Given the description of an element on the screen output the (x, y) to click on. 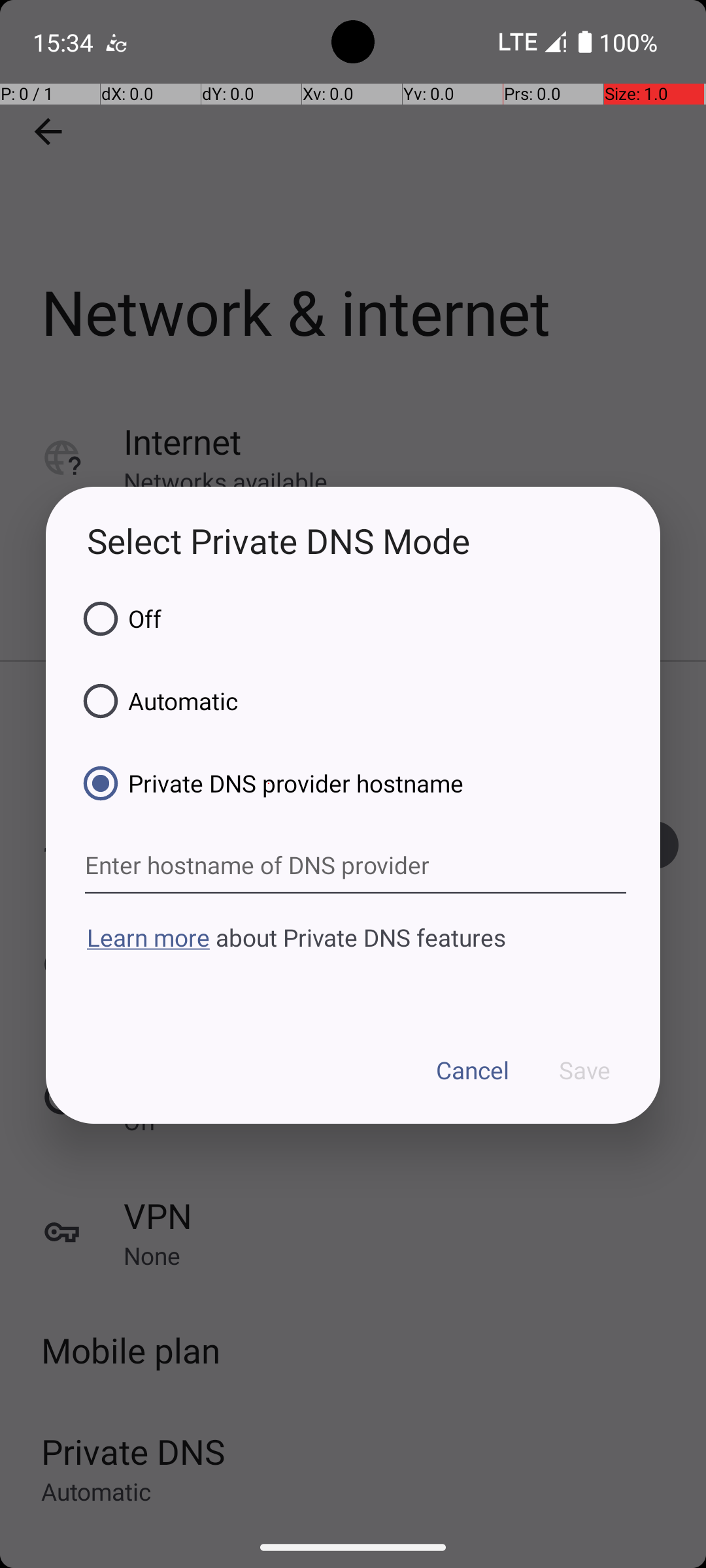
Select Private DNS Mode Element type: android.widget.TextView (352, 540)
Learn more about Private DNS features Element type: android.widget.TextView (352, 961)
Automatic Element type: android.widget.RadioButton (155, 700)
Private DNS provider hostname Element type: android.widget.RadioButton (268, 783)
Enter hostname of DNS provider Element type: android.widget.EditText (355, 865)
